Given the description of an element on the screen output the (x, y) to click on. 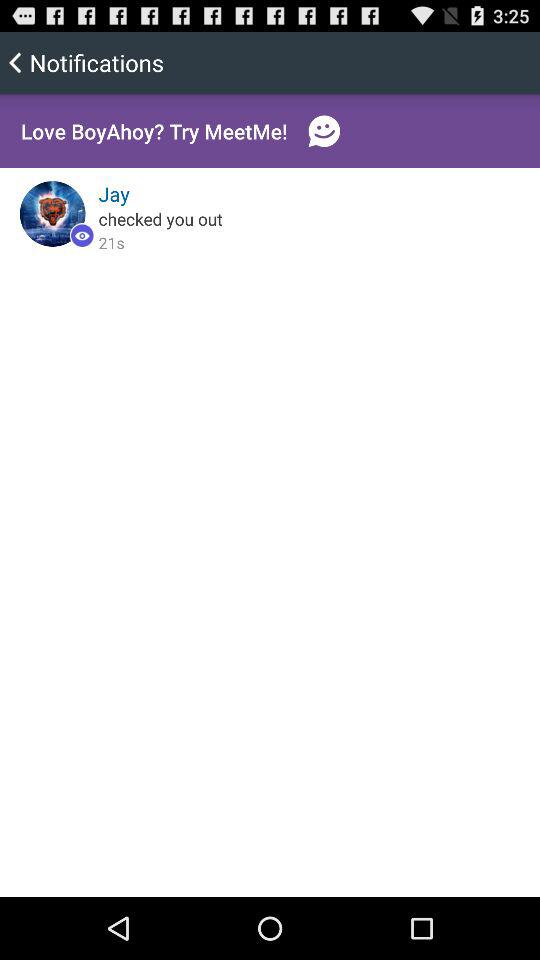
open app above the checked you out icon (113, 193)
